Given the description of an element on the screen output the (x, y) to click on. 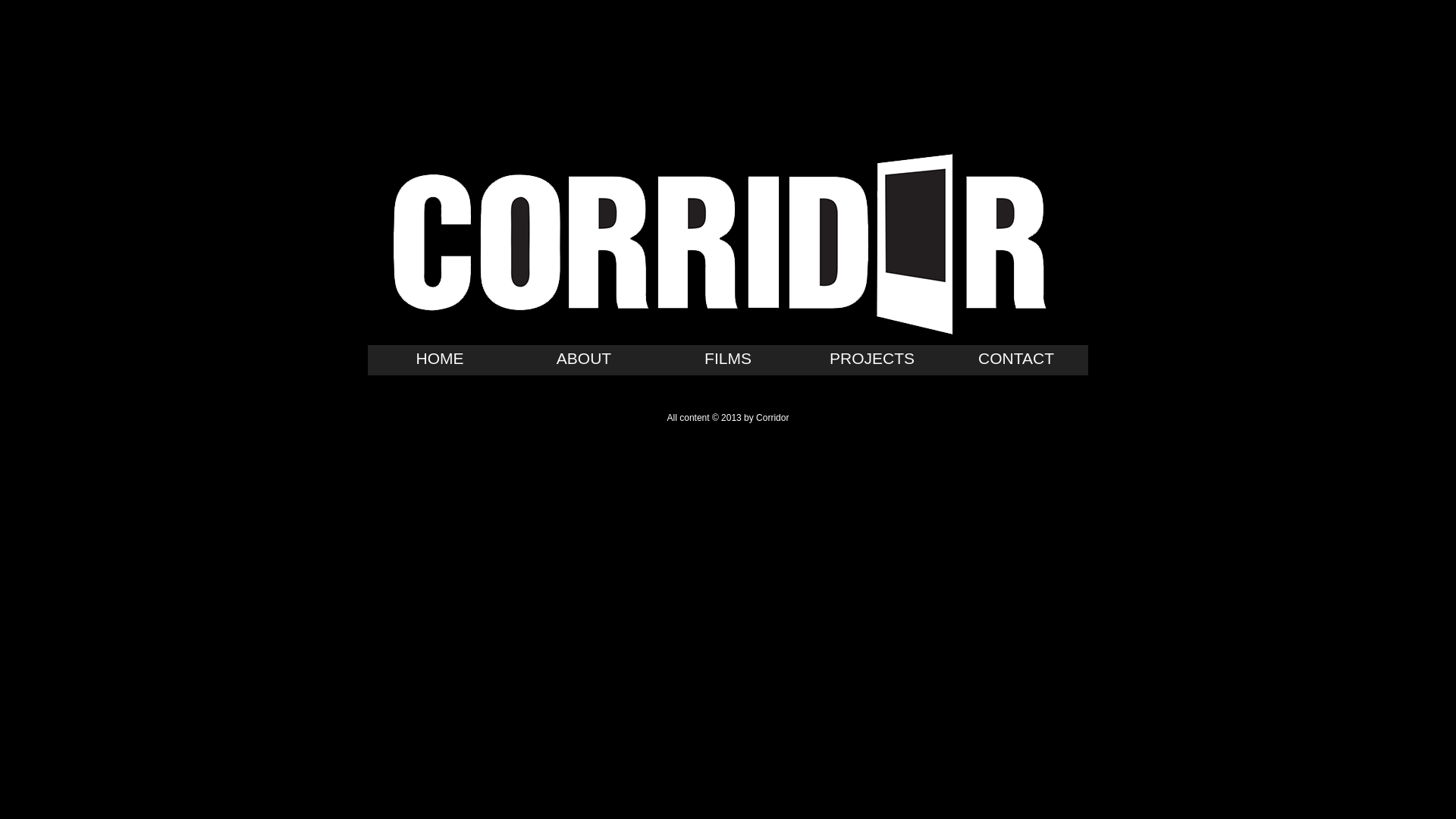
home Element type: text (439, 360)
about Element type: text (583, 360)
contact Element type: text (1016, 360)
films Element type: text (727, 360)
projects Element type: text (872, 360)
